Given the description of an element on the screen output the (x, y) to click on. 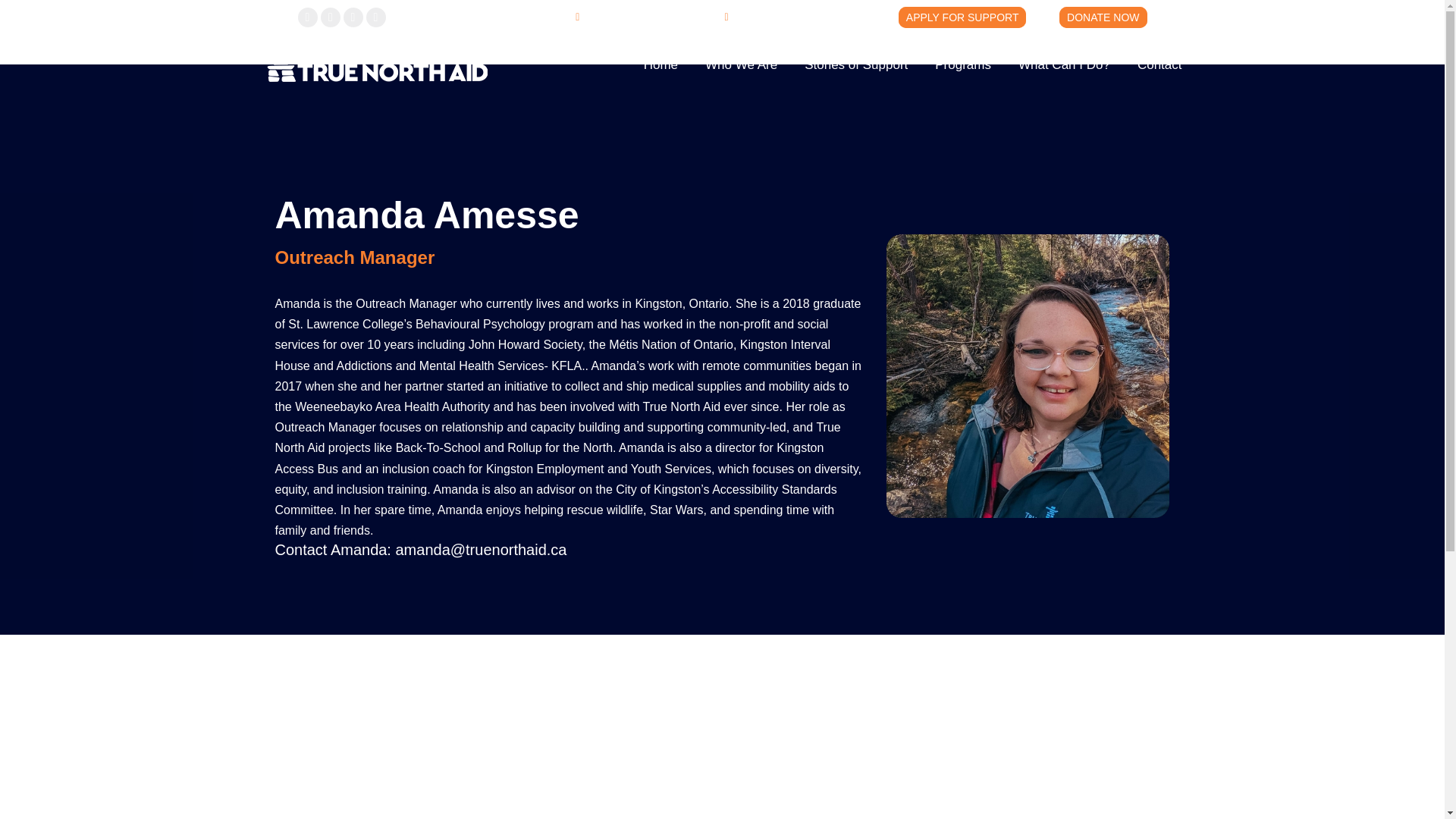
Facebook page opens in new window (307, 17)
X-Twitter page opens in new window (329, 17)
Home (660, 64)
Who We Are (740, 64)
Linkedin page opens in new window (375, 17)
X-Twitter page opens in new window (329, 17)
Facebook page opens in new window (307, 17)
Instagram page opens in new window (352, 17)
What Can I Do? (1063, 64)
Stones of Support (856, 64)
Programs (962, 64)
DONATE NOW (1103, 16)
Linkedin page opens in new window (375, 17)
APPLY FOR SUPPORT (962, 16)
Instagram page opens in new window (352, 17)
